Given the description of an element on the screen output the (x, y) to click on. 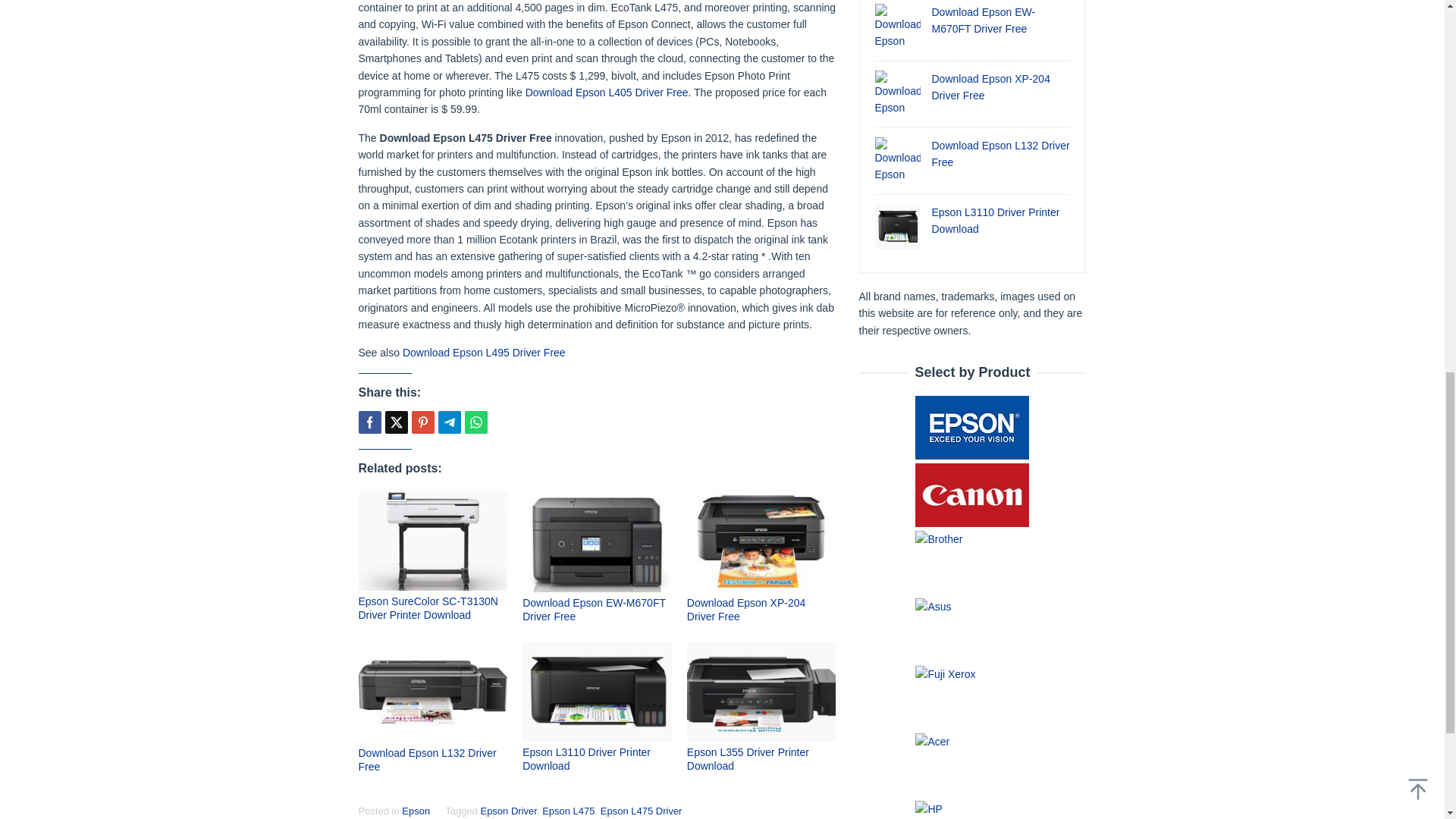
Share this (369, 422)
Whatsapp (475, 422)
Download Epson EW-M670FT Driver Free (593, 609)
Permalink to: Download Epson EW-M670FT Driver Free (593, 609)
Epson L3110 Driver Printer Download (586, 759)
Tweet this (396, 422)
Download Epson L495 Driver Free (484, 352)
Permalink to: Download Epson EW-M670FT Driver Free (596, 541)
Download Epson L132 Driver Free (427, 759)
